Given the description of an element on the screen output the (x, y) to click on. 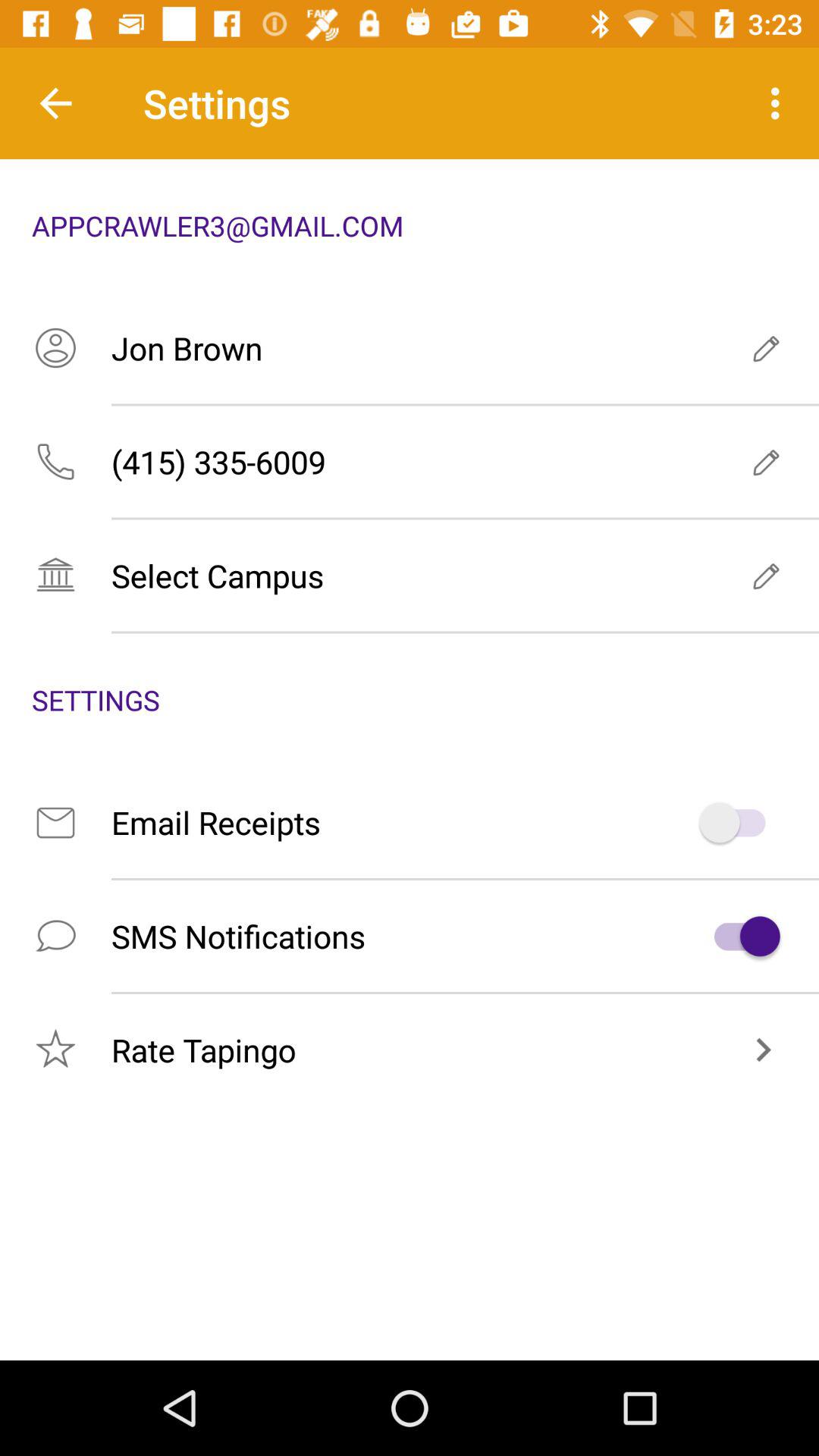
open the item below appcrawler3@gmail.com (409, 347)
